Given the description of an element on the screen output the (x, y) to click on. 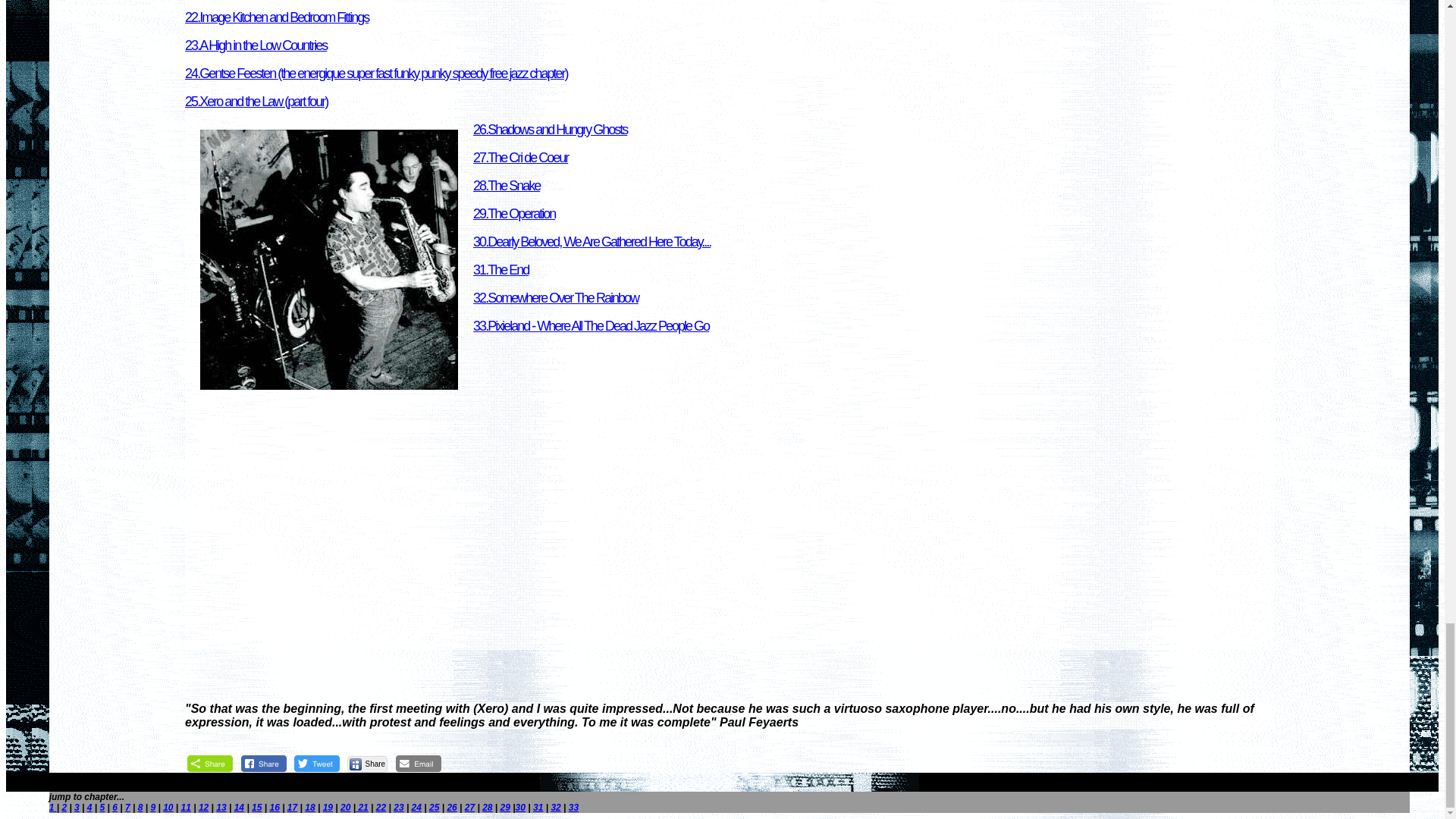
31.The End (500, 269)
23.A High in the Low Countries (255, 45)
26.Shadows and Hungry Ghosts (550, 129)
27.The Cri de Coeur (520, 157)
28.The Snake (506, 185)
30.Dearly Beloved, We Are Gathered Here Today.... (591, 241)
32.Somewhere Over The Rainbow (556, 297)
22.Image Kitchen and Bedroom Fittings (276, 17)
29.The Operation (513, 213)
